Given the description of an element on the screen output the (x, y) to click on. 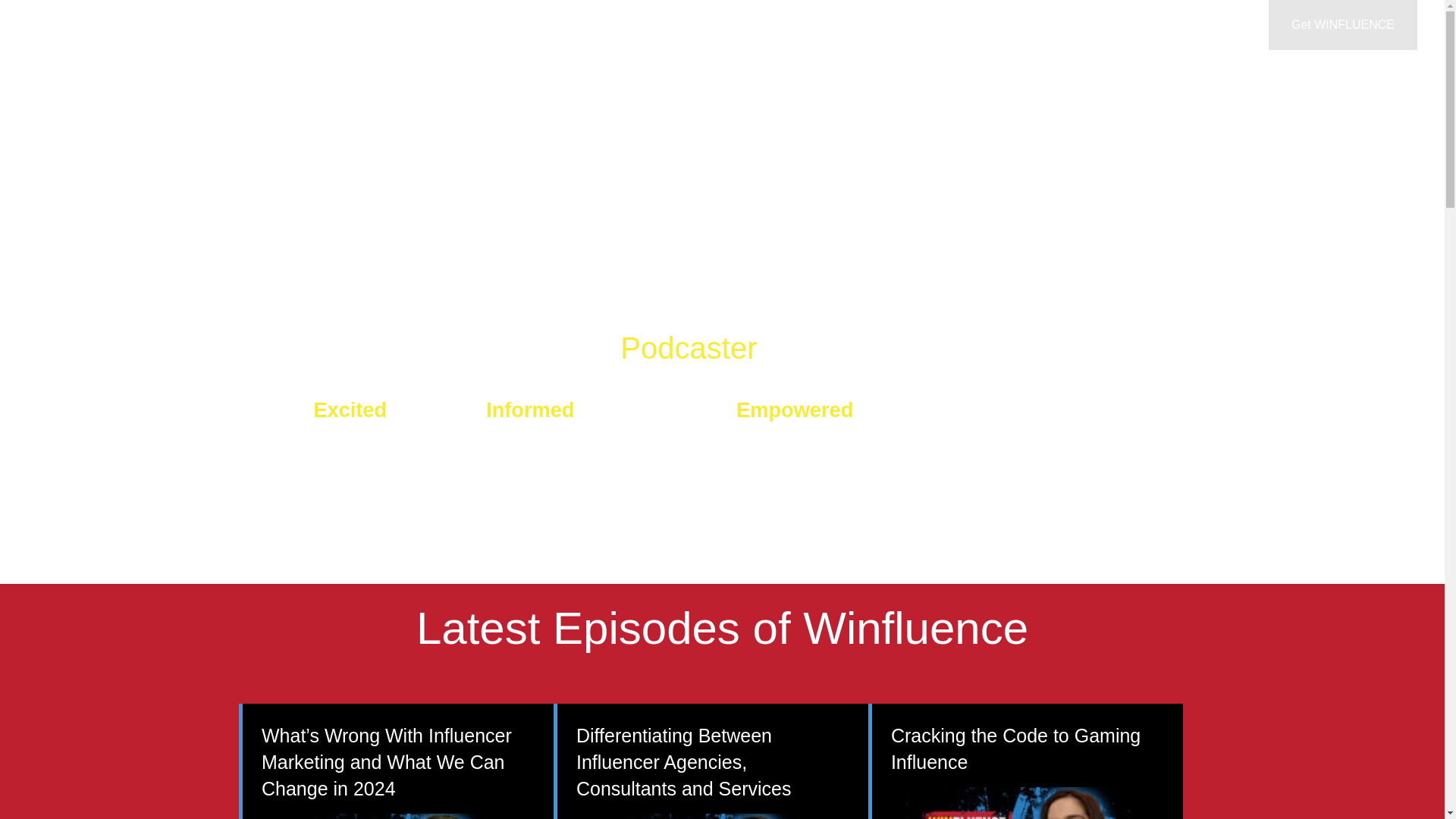
Keynote Speaker (937, 24)
WINFLUENCE (823, 24)
Work with Jason (1057, 24)
Get WINFLUENCE (1342, 24)
Cracking the Code to Gaming Influence (1015, 748)
Cracking the Code to Gaming Influence (1015, 748)
